Given the description of an element on the screen output the (x, y) to click on. 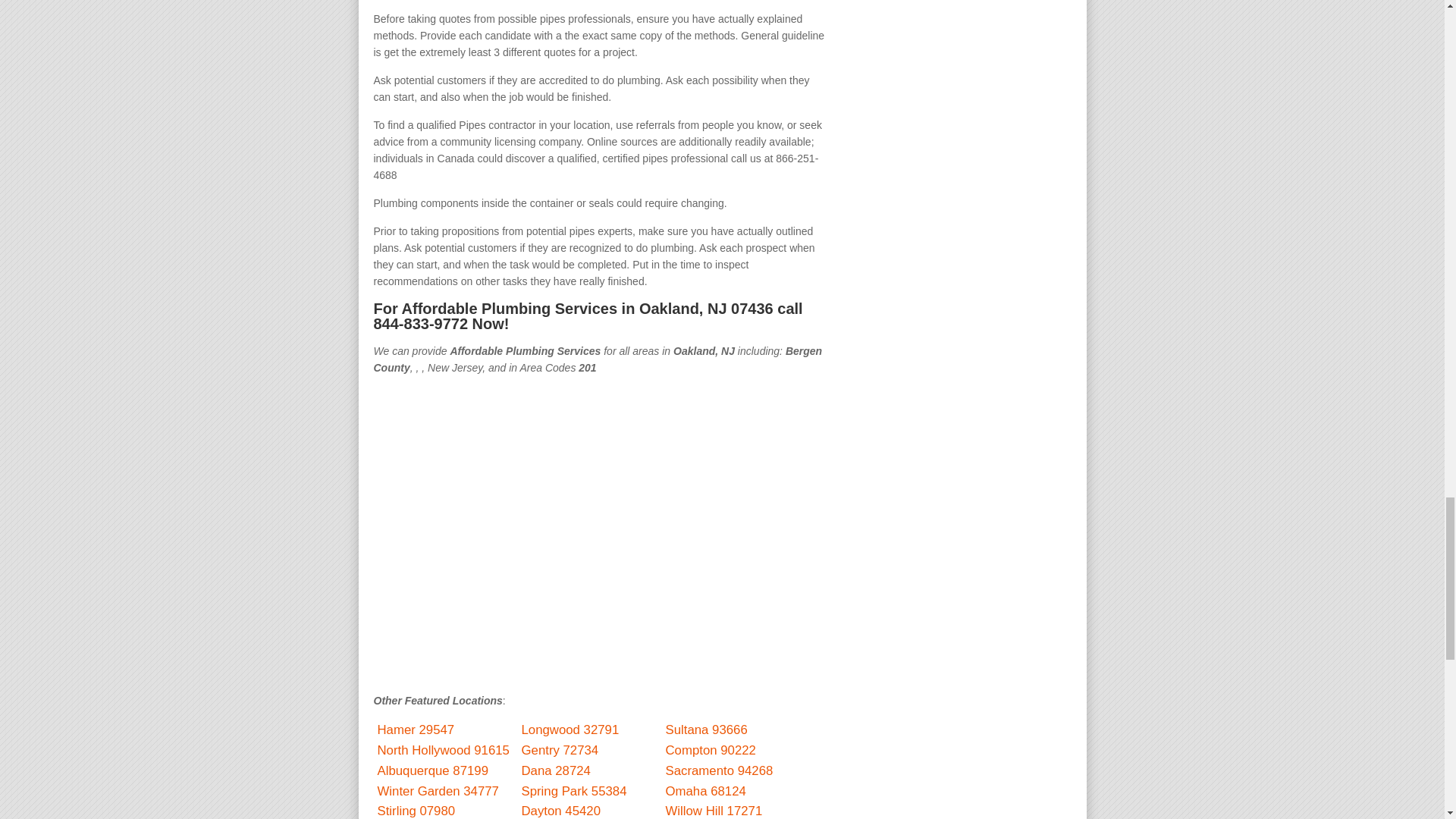
Omaha 68124 (705, 790)
Compton 90222 (710, 749)
Willow Hill 17271 (713, 810)
Longwood 32791 (570, 729)
Hamer 29547 (415, 729)
Spring Park 55384 (574, 790)
Dana 28724 (556, 770)
Stirling 07980 (416, 810)
Sacramento 94268 (719, 770)
Gentry 72734 (559, 749)
